Given the description of an element on the screen output the (x, y) to click on. 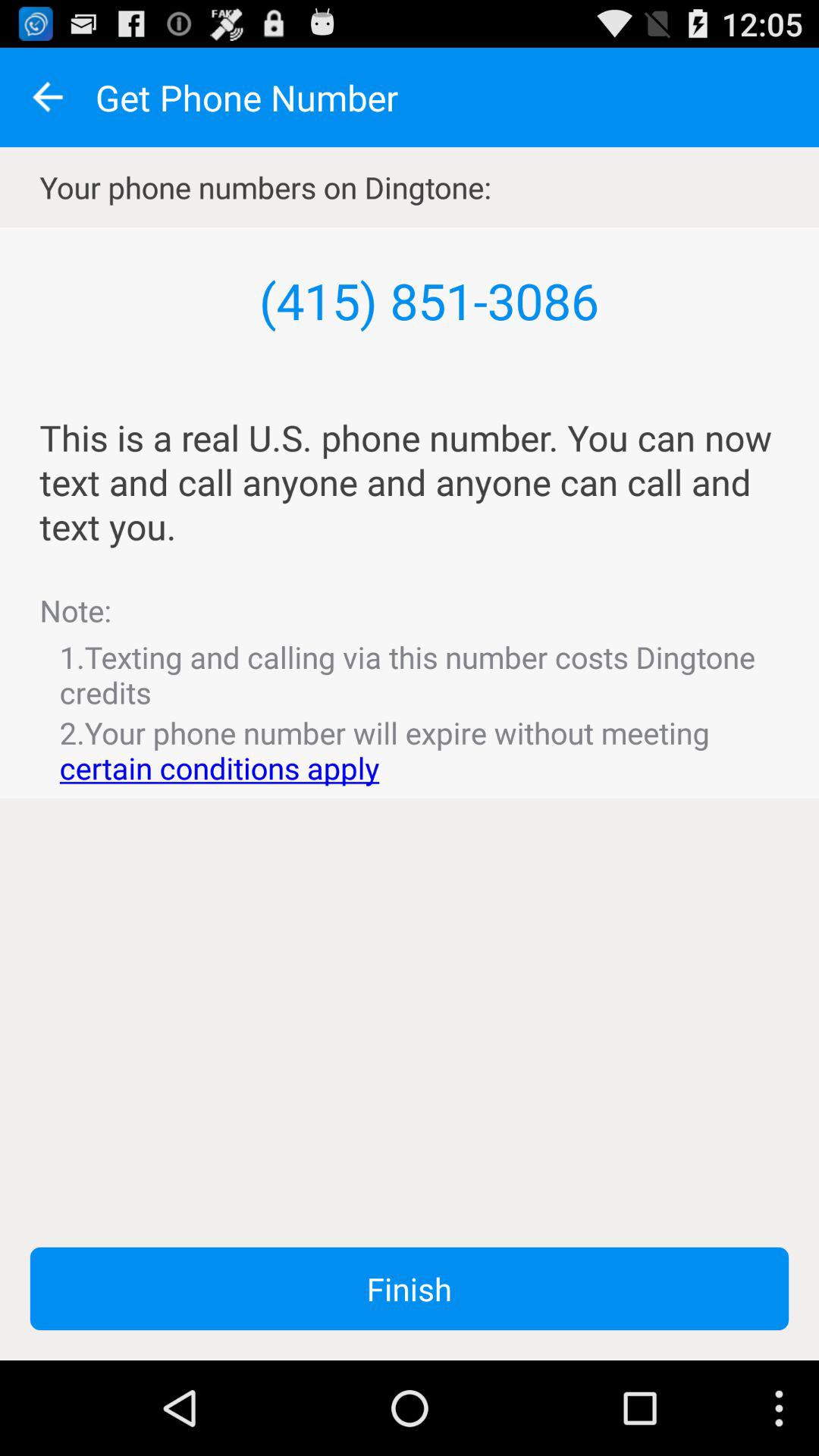
jump to the finish item (409, 1288)
